Given the description of an element on the screen output the (x, y) to click on. 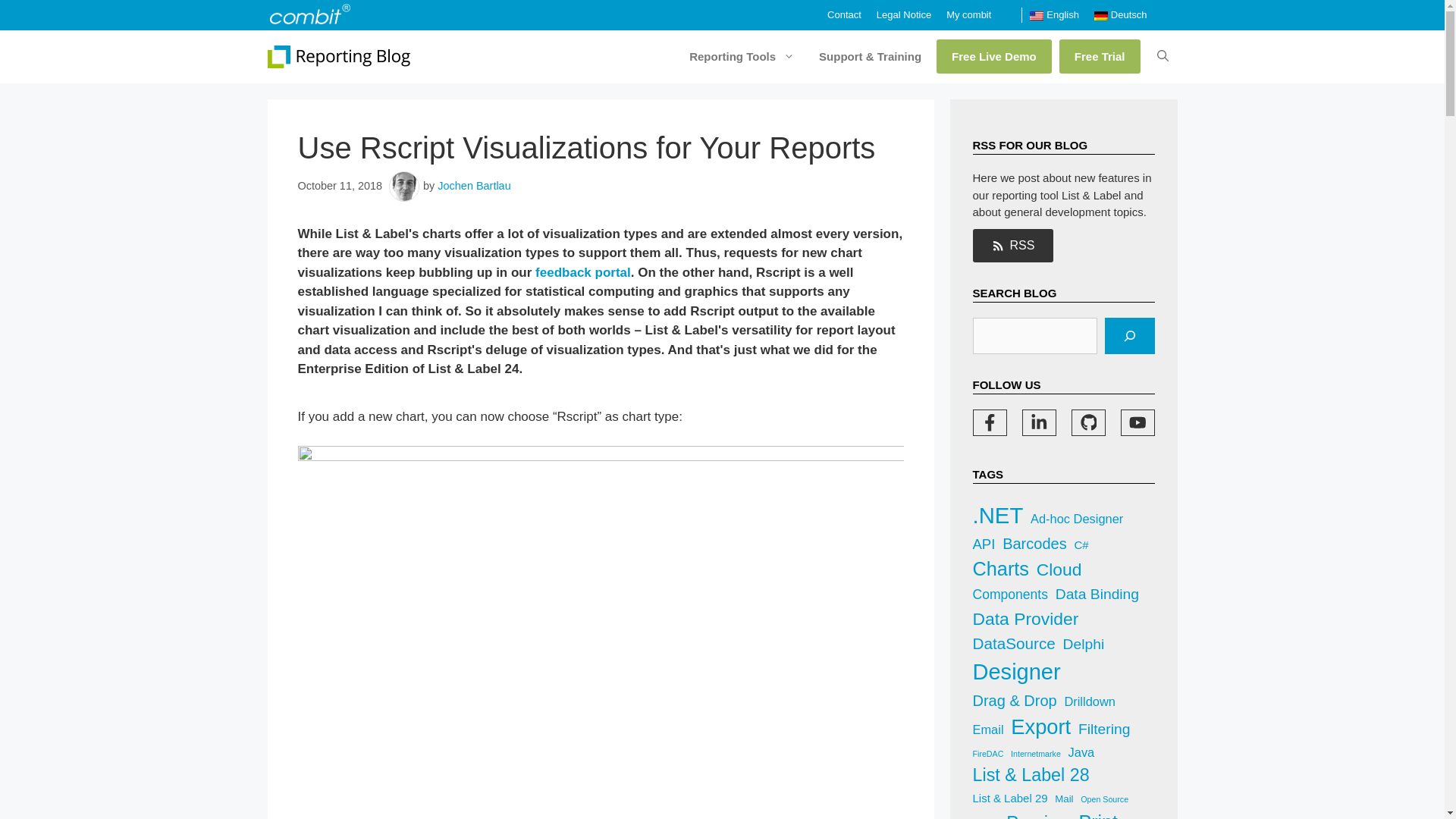
Jochen Bartlau (474, 185)
View all posts by Jochen Bartlau (474, 185)
Deutsch (1120, 14)
Legal Notice (903, 14)
Free Trial (1099, 56)
English (1053, 14)
Deutsch (1120, 14)
English (1053, 14)
Contact (844, 14)
feedback portal (582, 272)
Free Live Demo (993, 56)
Reporting Tools (738, 56)
My combit (968, 14)
